Given the description of an element on the screen output the (x, y) to click on. 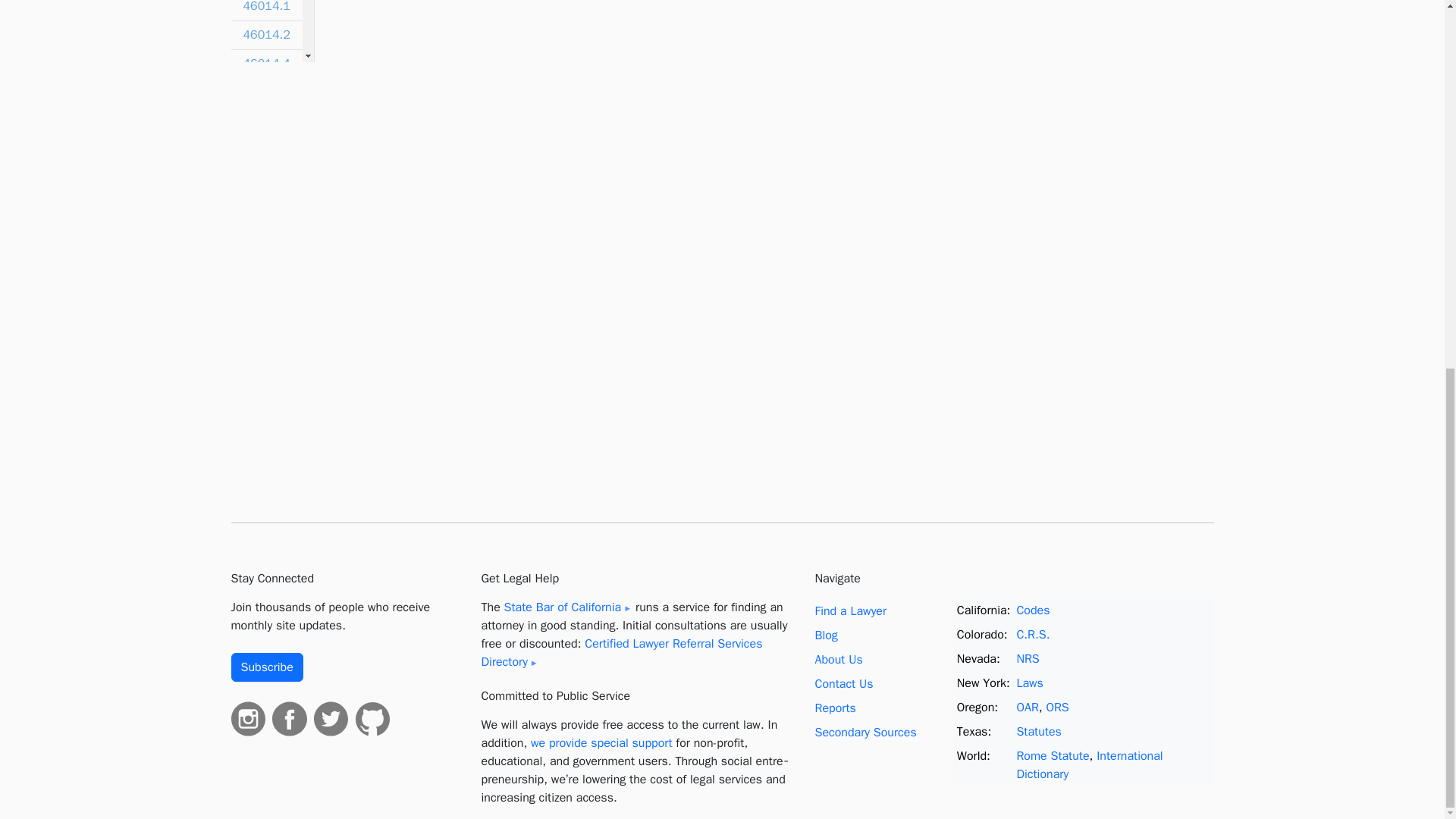
46016.1 (265, 149)
46014.2 (265, 35)
46014.6 (265, 92)
46014.1 (265, 10)
46014.4 (265, 63)
46016.3 (265, 207)
46015 (265, 121)
46016.2 (265, 178)
